Given the description of an element on the screen output the (x, y) to click on. 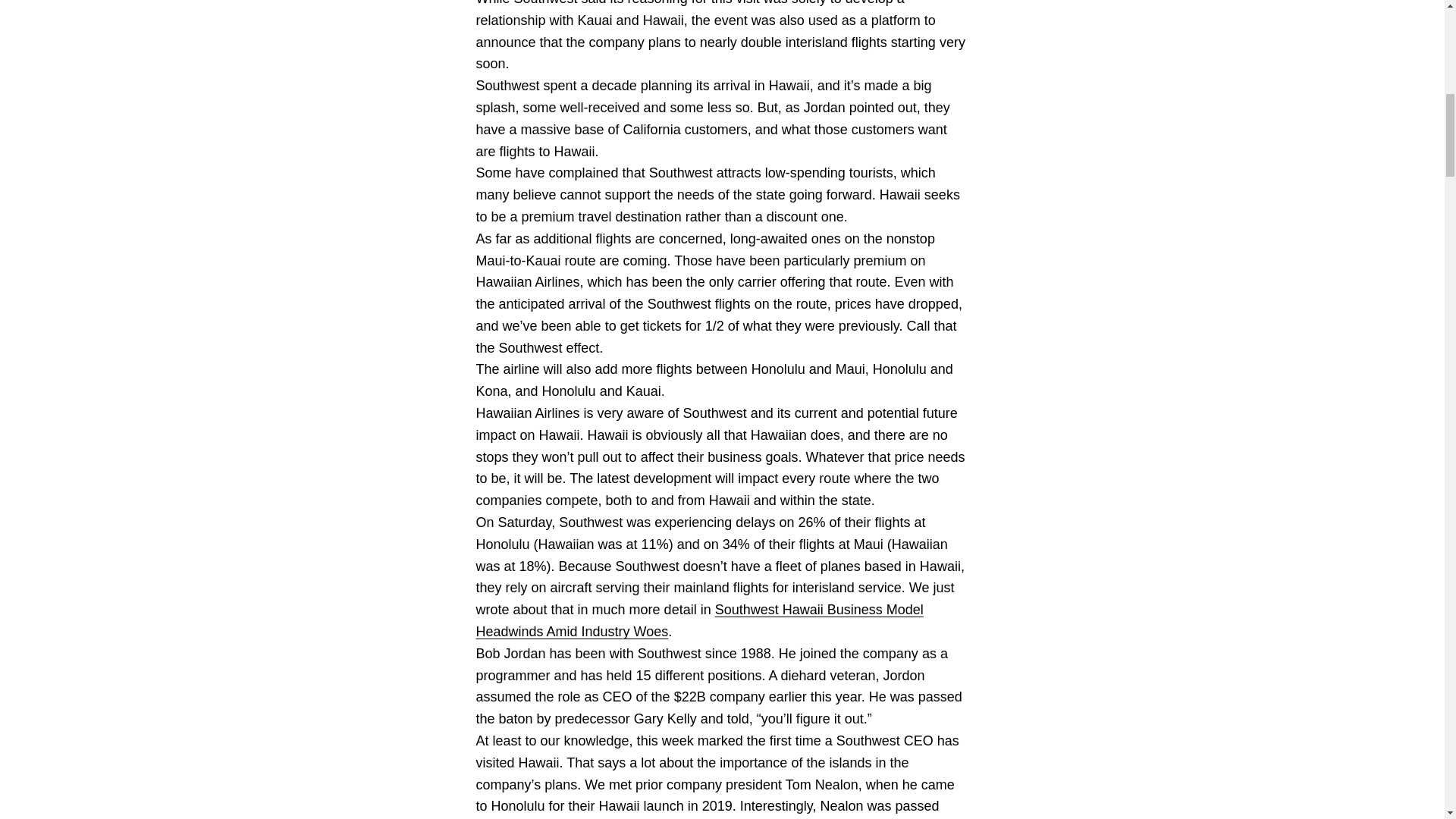
Southwest Hawaii Business Model Headwinds Amid Industry Woes (699, 620)
